Given the description of an element on the screen output the (x, y) to click on. 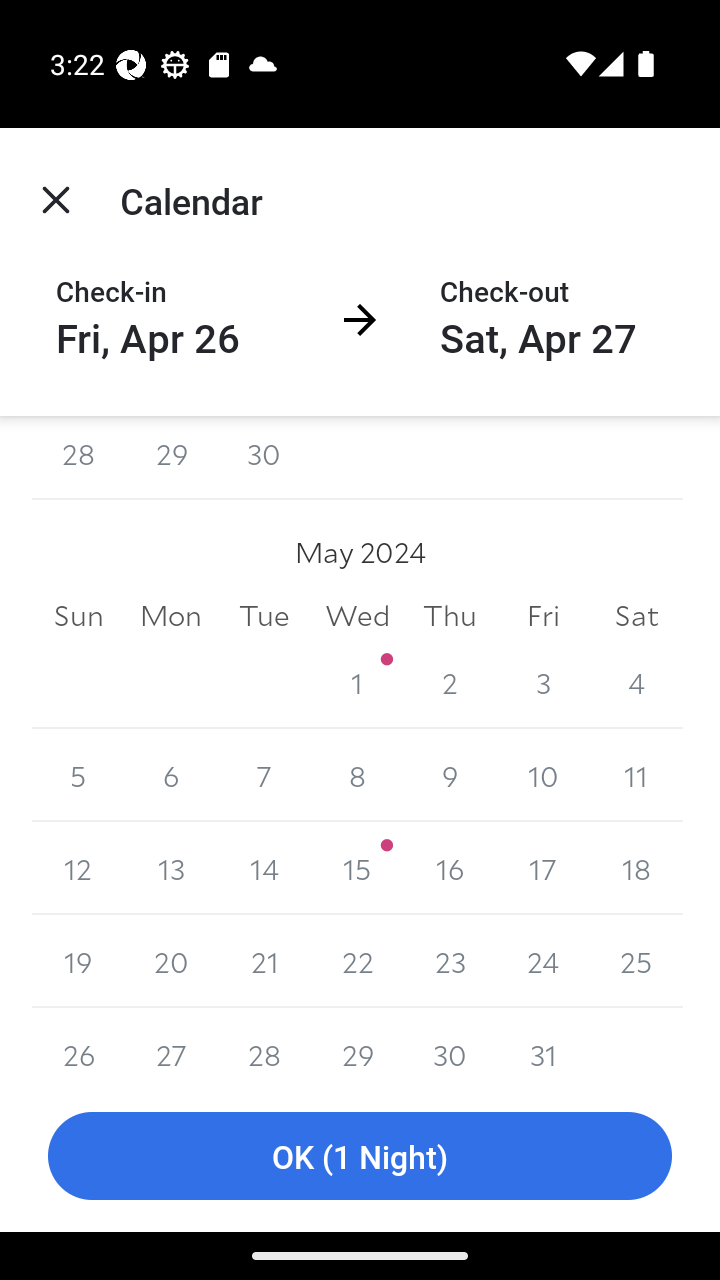
28 28 April 2024 (78, 458)
29 29 April 2024 (171, 458)
30 30 April 2024 (264, 458)
Sun (78, 615)
Mon (171, 615)
Tue (264, 615)
Wed (357, 615)
Thu (449, 615)
Fri (542, 615)
Sat (636, 615)
1 1 May 2024 (357, 682)
2 2 May 2024 (449, 682)
3 3 May 2024 (542, 682)
4 4 May 2024 (636, 682)
5 5 May 2024 (78, 775)
6 6 May 2024 (171, 775)
7 7 May 2024 (264, 775)
8 8 May 2024 (357, 775)
9 9 May 2024 (449, 775)
10 10 May 2024 (542, 775)
11 11 May 2024 (636, 775)
12 12 May 2024 (78, 868)
13 13 May 2024 (171, 868)
14 14 May 2024 (264, 868)
15 15 May 2024 (357, 868)
16 16 May 2024 (449, 868)
17 17 May 2024 (542, 868)
18 18 May 2024 (636, 868)
19 19 May 2024 (78, 961)
20 20 May 2024 (171, 961)
21 21 May 2024 (264, 961)
22 22 May 2024 (357, 961)
23 23 May 2024 (449, 961)
24 24 May 2024 (542, 961)
25 25 May 2024 (636, 961)
26 26 May 2024 (78, 1044)
27 27 May 2024 (171, 1044)
28 28 May 2024 (264, 1044)
29 29 May 2024 (357, 1044)
30 30 May 2024 (449, 1044)
31 31 May 2024 (542, 1044)
OK (1 Night) (359, 1156)
